Given the description of an element on the screen output the (x, y) to click on. 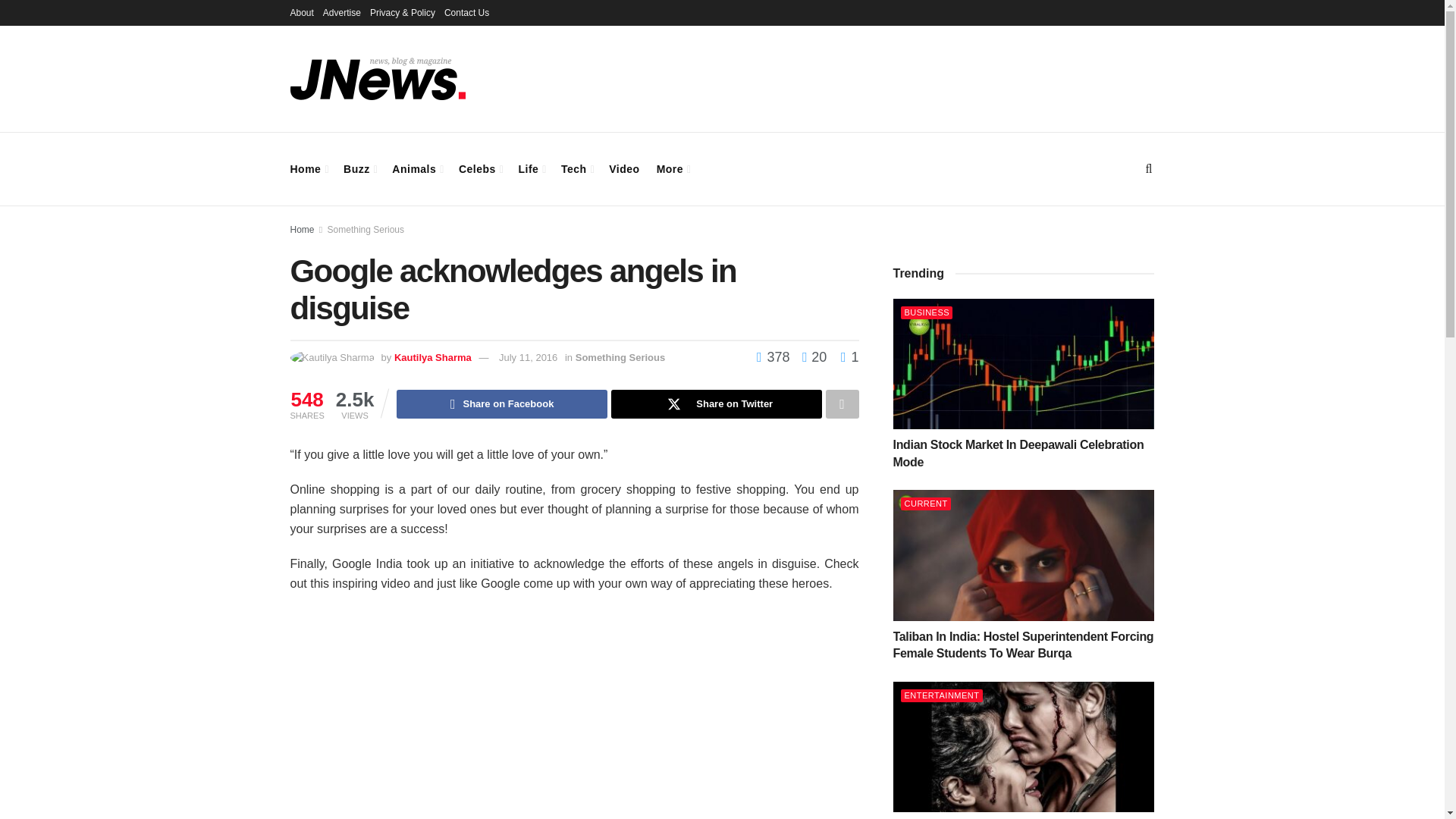
Advertise (342, 12)
About (301, 12)
Celebs (480, 168)
More (672, 168)
Buzz (359, 168)
Tech (576, 168)
Animals (416, 168)
Contact Us (466, 12)
Life (531, 168)
Video (623, 168)
Home (307, 168)
